Given the description of an element on the screen output the (x, y) to click on. 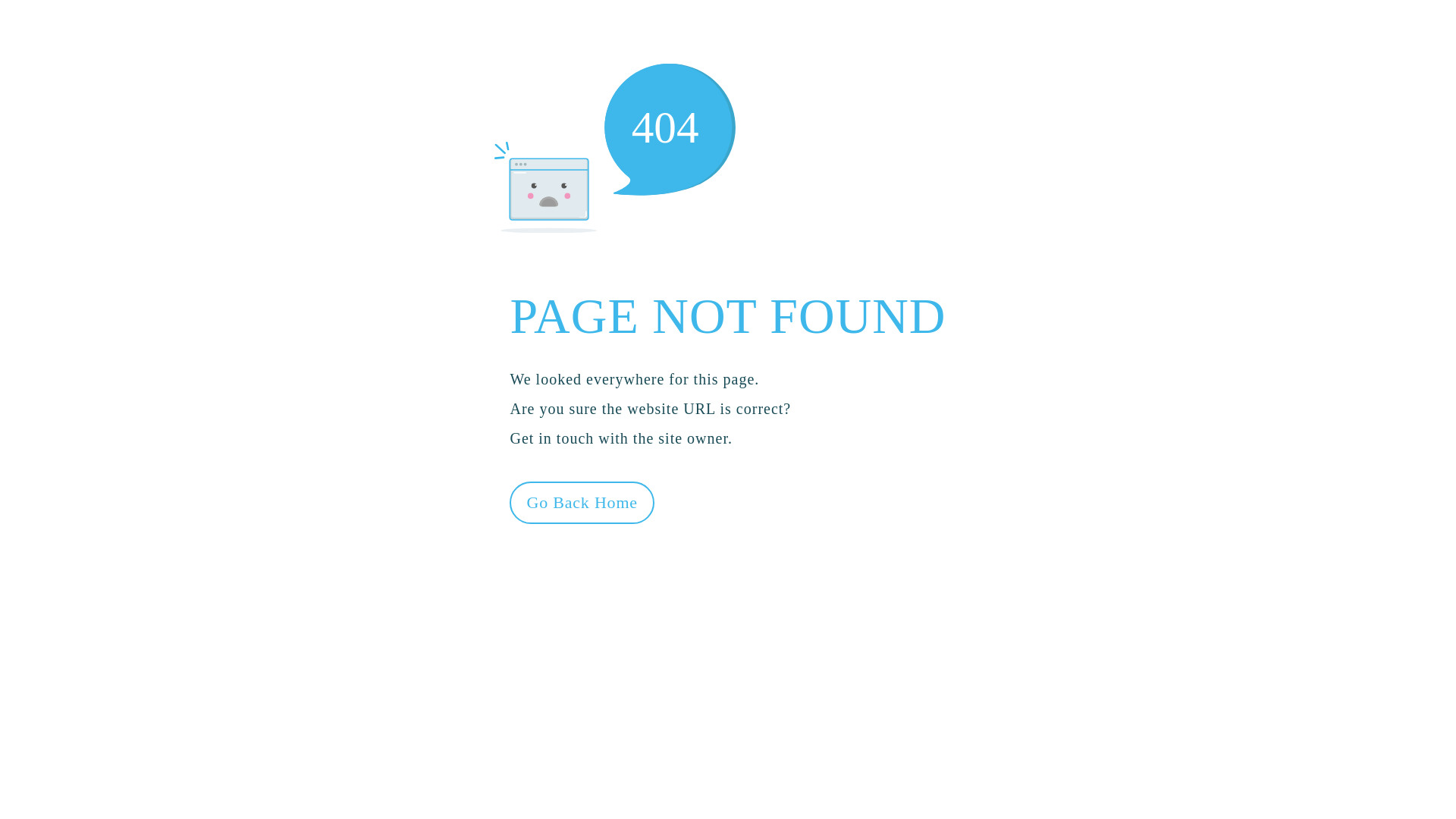
Go Back Home Element type: text (581, 502)
